Given the description of an element on the screen output the (x, y) to click on. 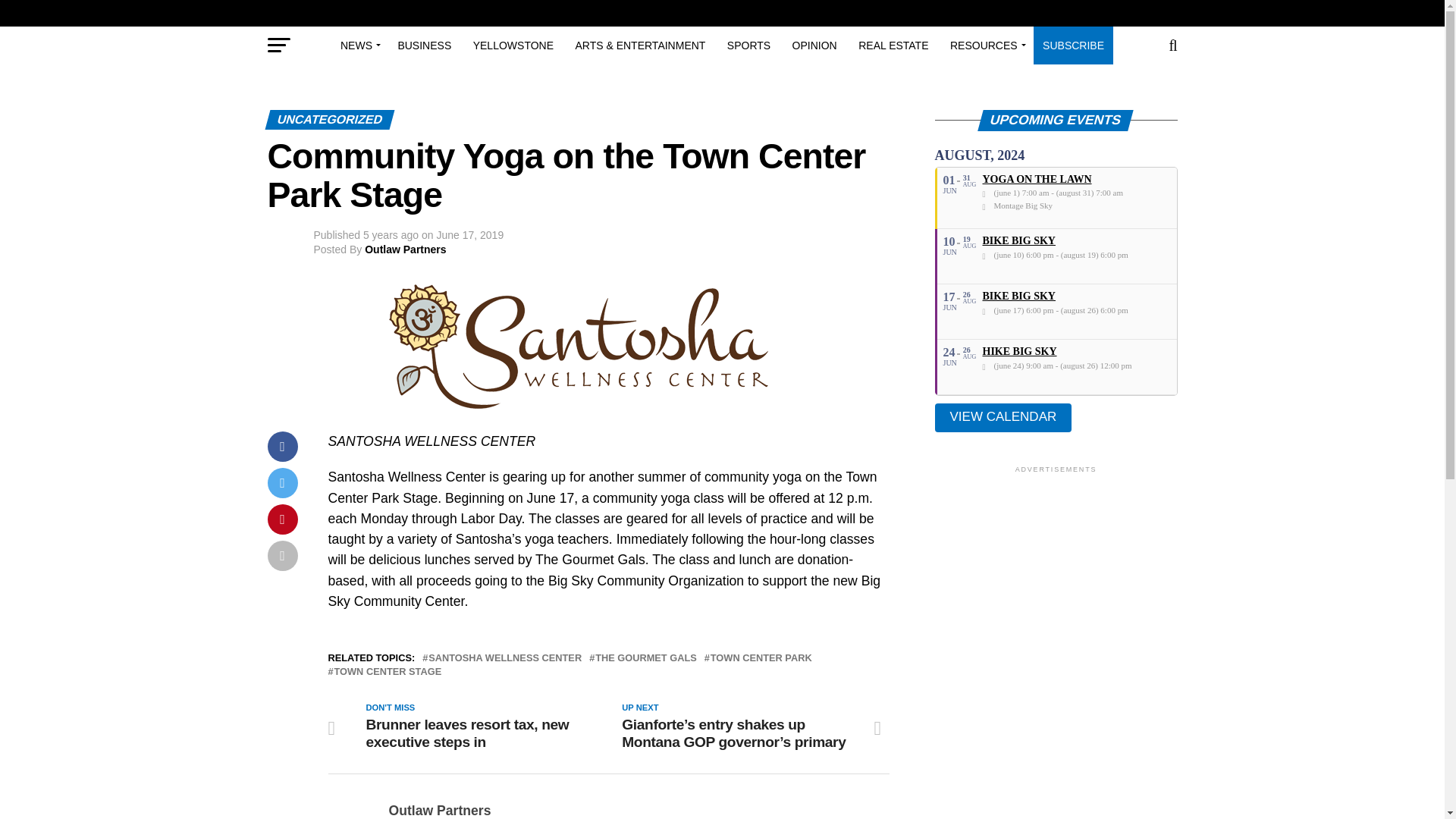
Posts by Outlaw Partners (439, 810)
BUSINESS (424, 45)
Posts by Outlaw Partners (405, 249)
YELLOWSTONE (513, 45)
NEWS (358, 45)
SPORTS (747, 45)
REAL ESTATE (892, 45)
RESOURCES (985, 45)
OPINION (814, 45)
